Given the description of an element on the screen output the (x, y) to click on. 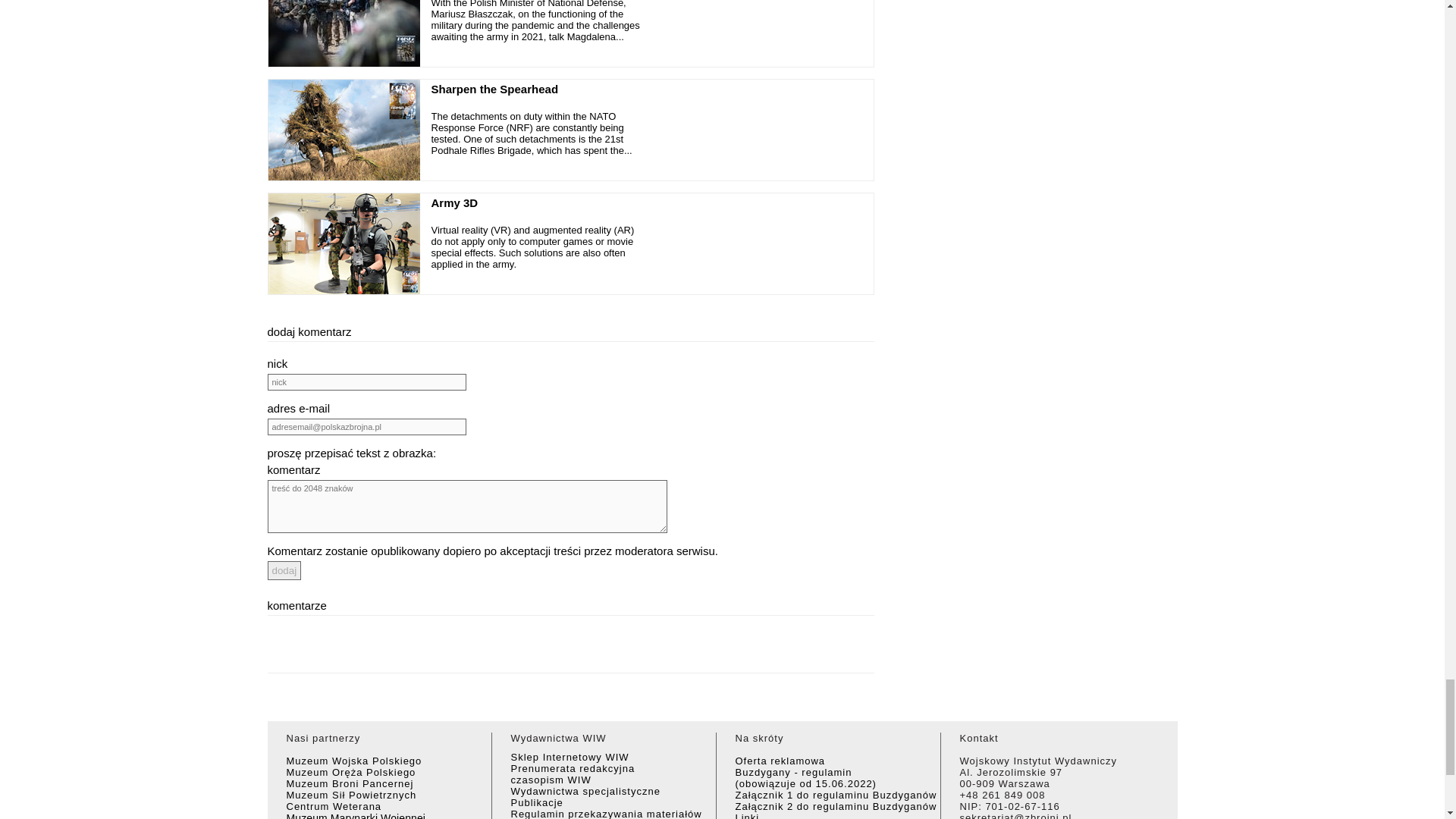
dodaj (283, 570)
